Given the description of an element on the screen output the (x, y) to click on. 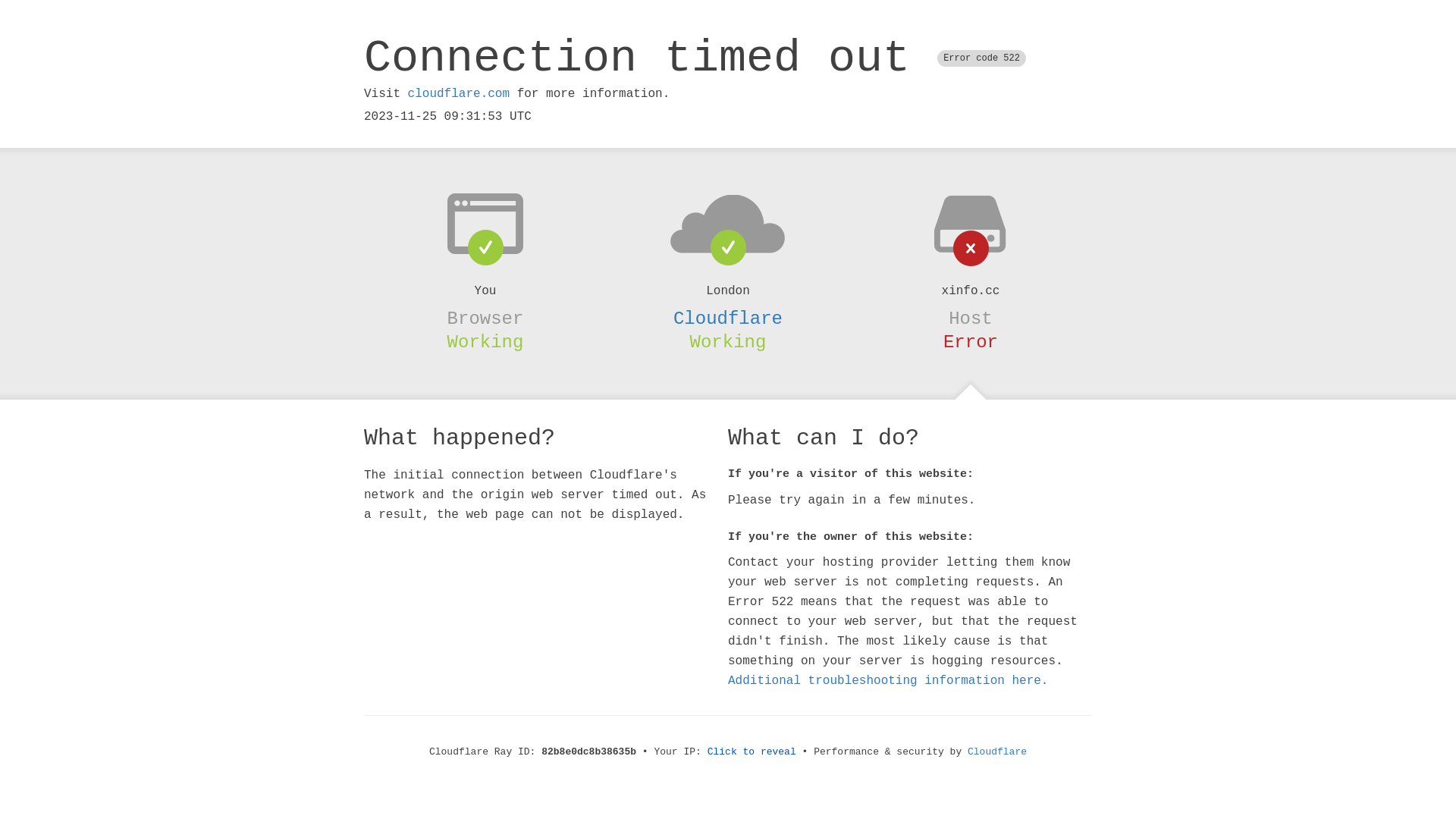
cloudflare.com Element type: text (458, 93)
Click to reveal Element type: text (751, 751)
Cloudflare Element type: text (996, 751)
Additional troubleshooting information here. Element type: text (888, 680)
Cloudflare Element type: text (727, 318)
